Given the description of an element on the screen output the (x, y) to click on. 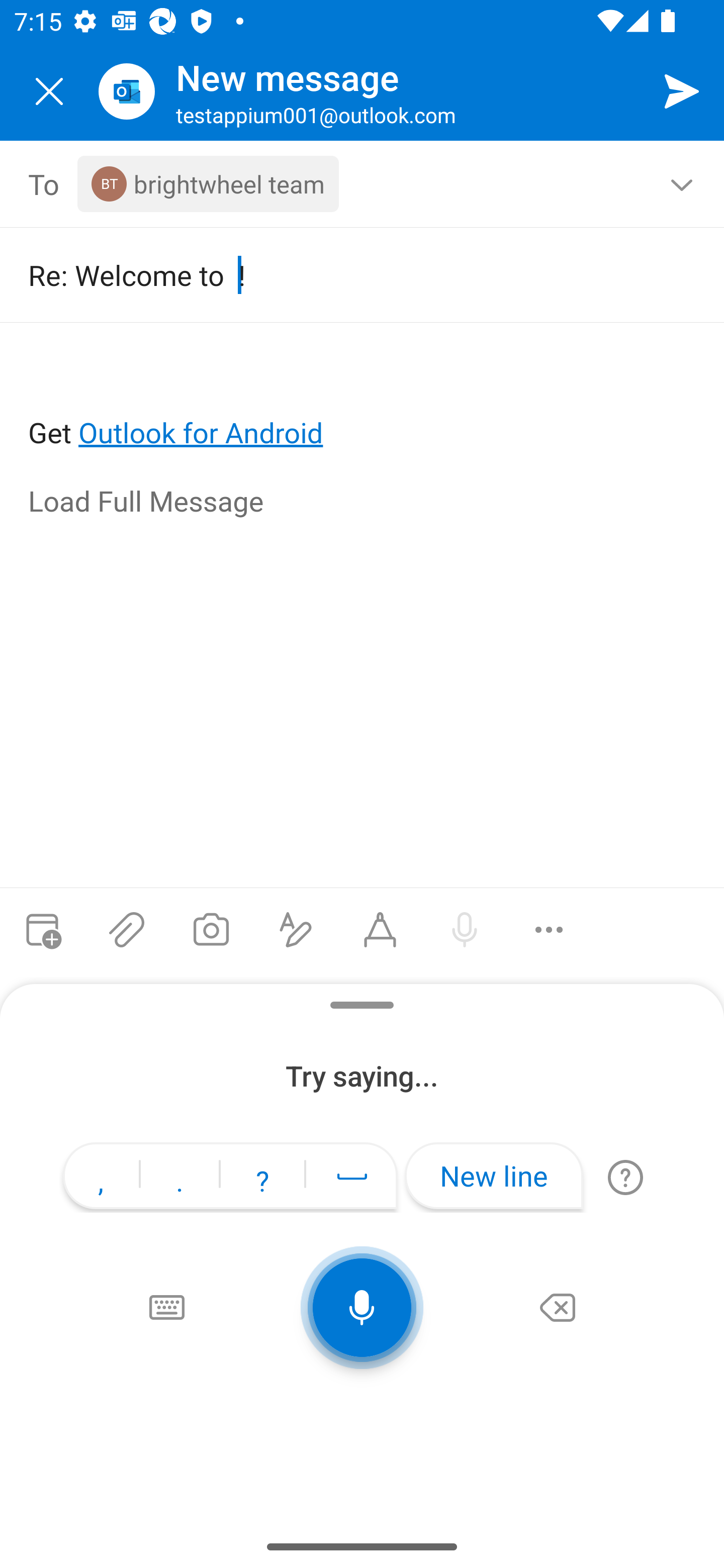
Close (49, 91)
Send (681, 90)
Re: Welcome to  ! (347, 274)


Get Outlook for Android (363, 400)
Load Full Message (363, 502)
Attach meeting (42, 929)
Attach files (126, 929)
Take a photo (210, 929)
Show formatting options (295, 929)
Start Ink compose (380, 929)
More options (548, 929)
  Insert Space button (351, 1175)
New line new line button (493, 1175)
Help (624, 1177)
, Comma button (100, 1177)
. Period button (179, 1177)
? Question mark button (262, 1177)
Microphone (361, 1307)
switch to alphanumeric keyboard (165, 1307)
backspace (557, 1307)
